Given the description of an element on the screen output the (x, y) to click on. 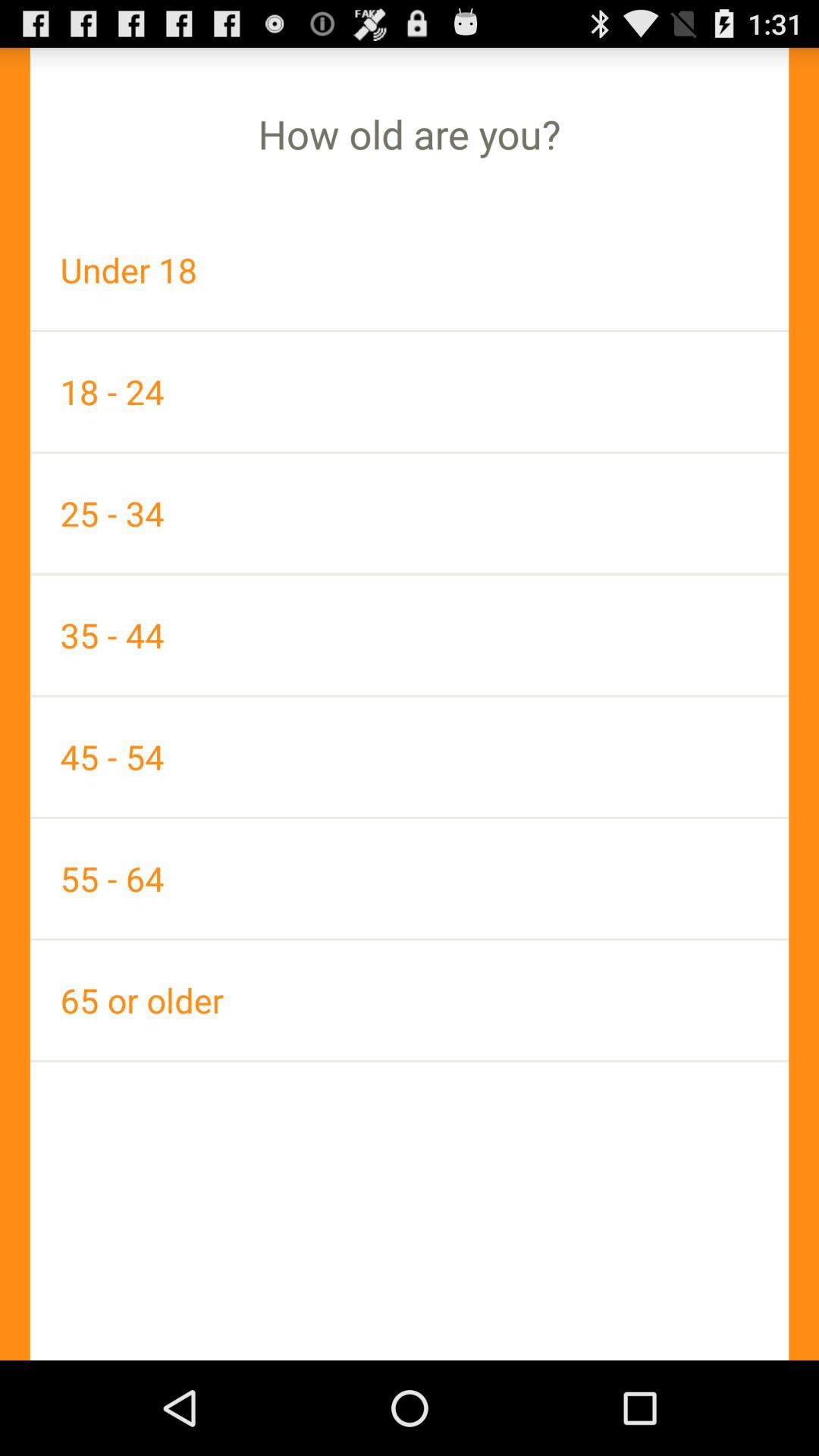
click the under 18 icon (409, 269)
